Given the description of an element on the screen output the (x, y) to click on. 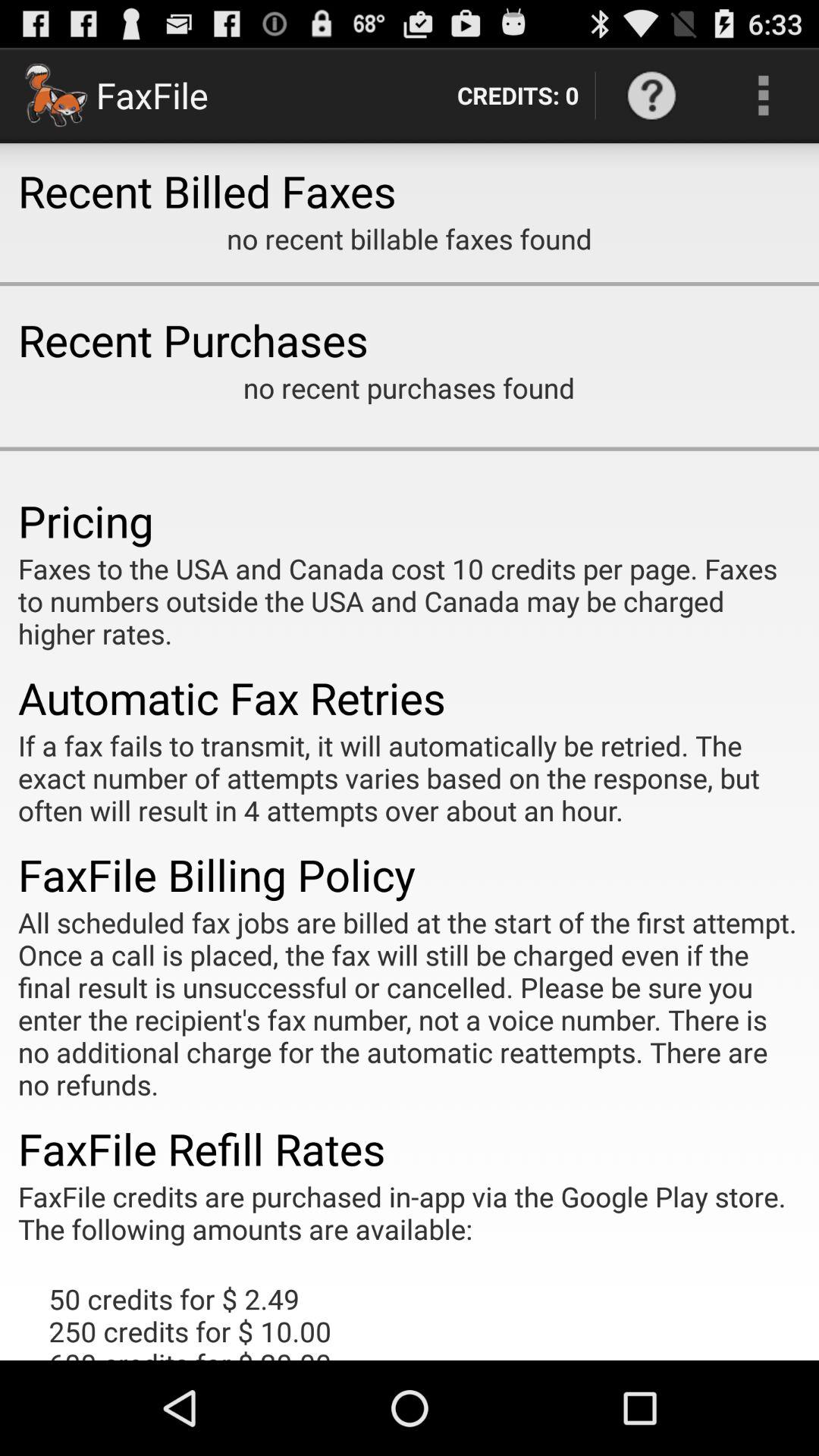
choose app above no recent billable app (517, 95)
